Given the description of an element on the screen output the (x, y) to click on. 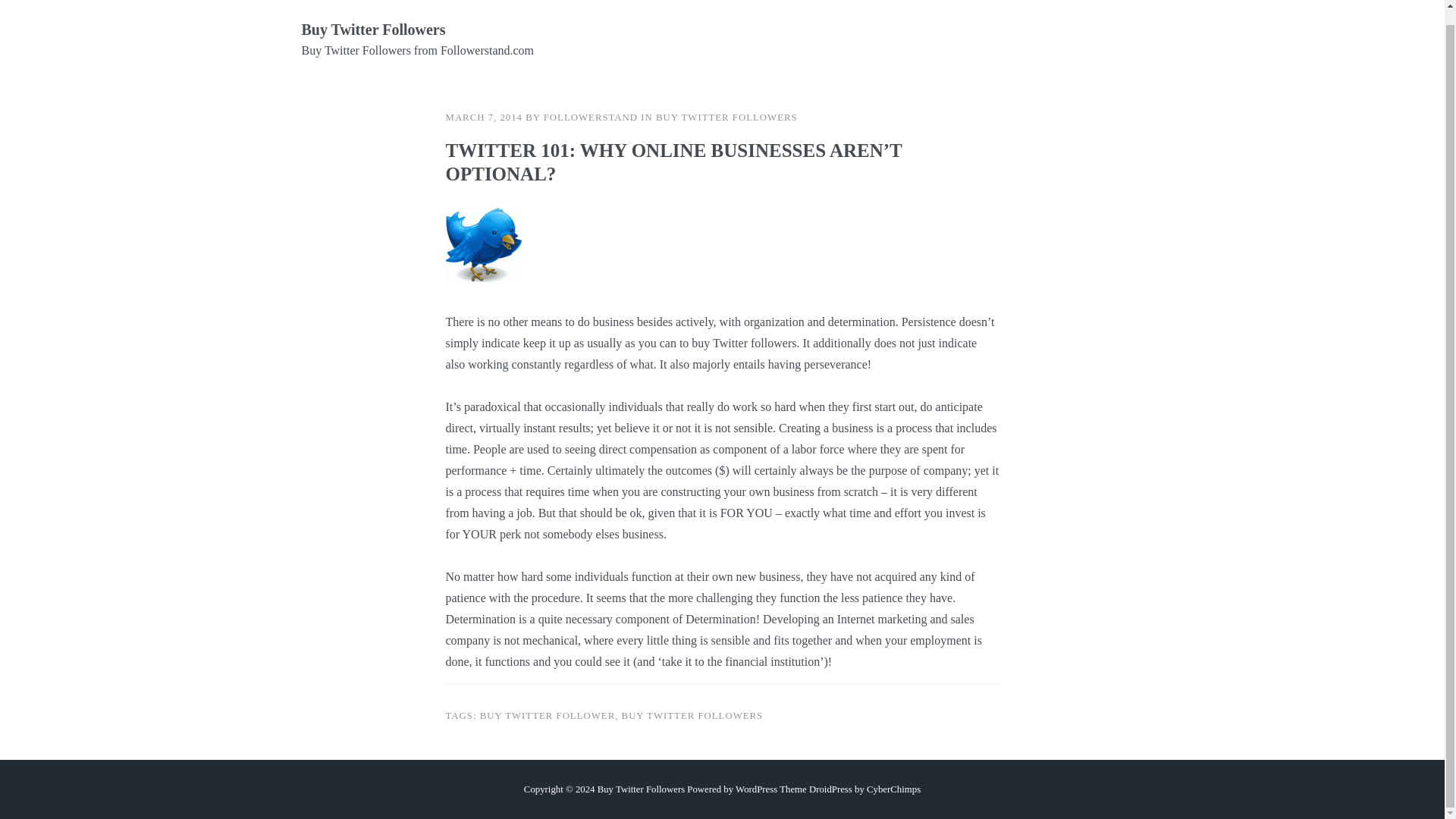
BUY TWITTER FOLLOWER (547, 715)
FOLLOWERSTAND (590, 117)
BUY TWITTER FOLLOWERS (691, 715)
CyberChimps (893, 787)
BUY TWITTER FOLLOWERS (726, 117)
MARCH 7, 2014 (483, 117)
WordPress (756, 787)
Buy Twitter Followers (373, 29)
